Given the description of an element on the screen output the (x, y) to click on. 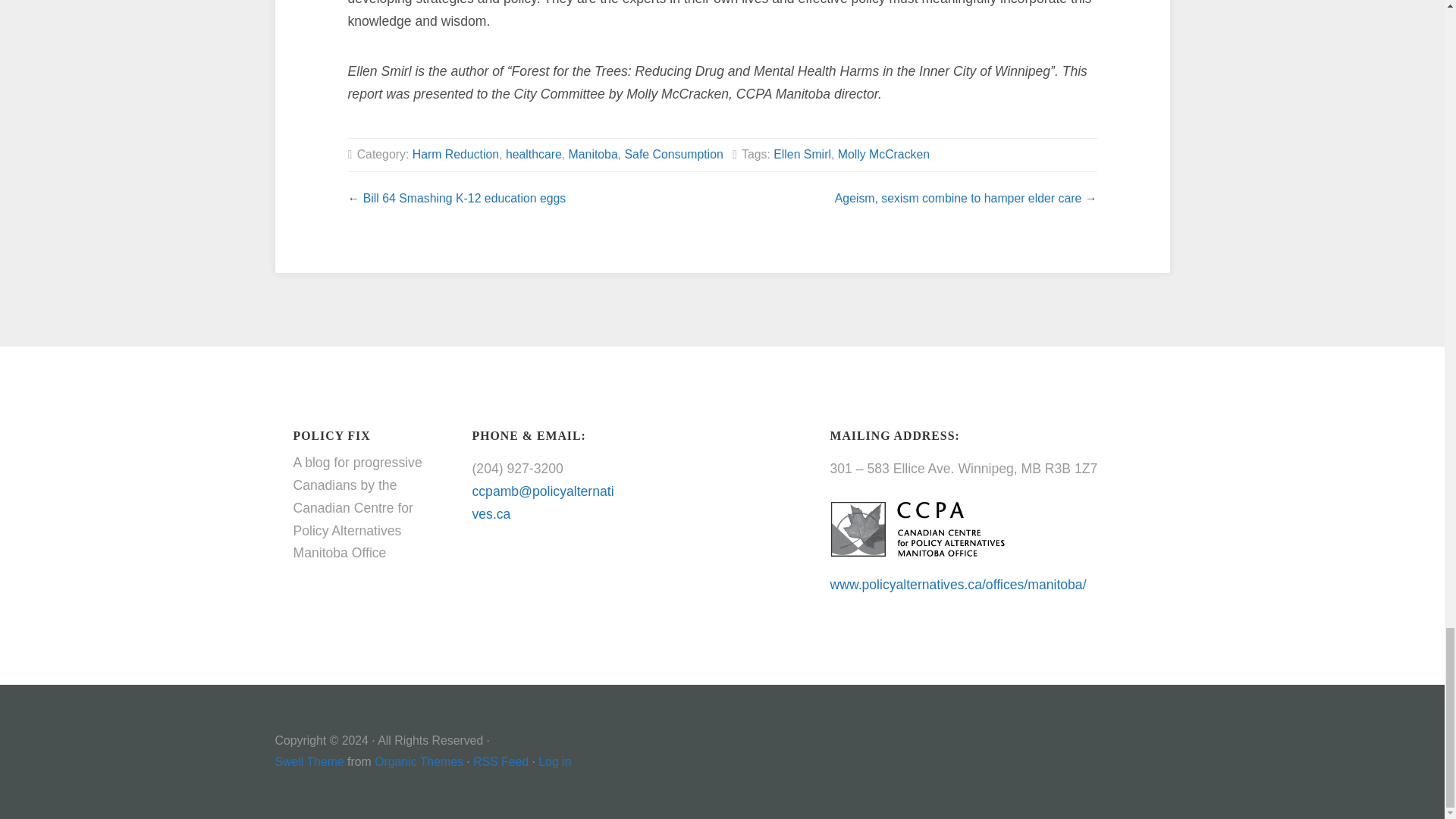
healthcare (533, 154)
Manitoba (593, 154)
Organic Themes (418, 761)
RSS Feed (500, 761)
Harm Reduction (455, 154)
Ellen Smirl (802, 154)
Molly McCracken (884, 154)
Safe Consumption (673, 154)
Ageism, sexism combine to hamper elder care (957, 197)
Swell Theme (309, 761)
Bill 64 Smashing K-12 education eggs (464, 197)
Log in (554, 761)
